Given the description of an element on the screen output the (x, y) to click on. 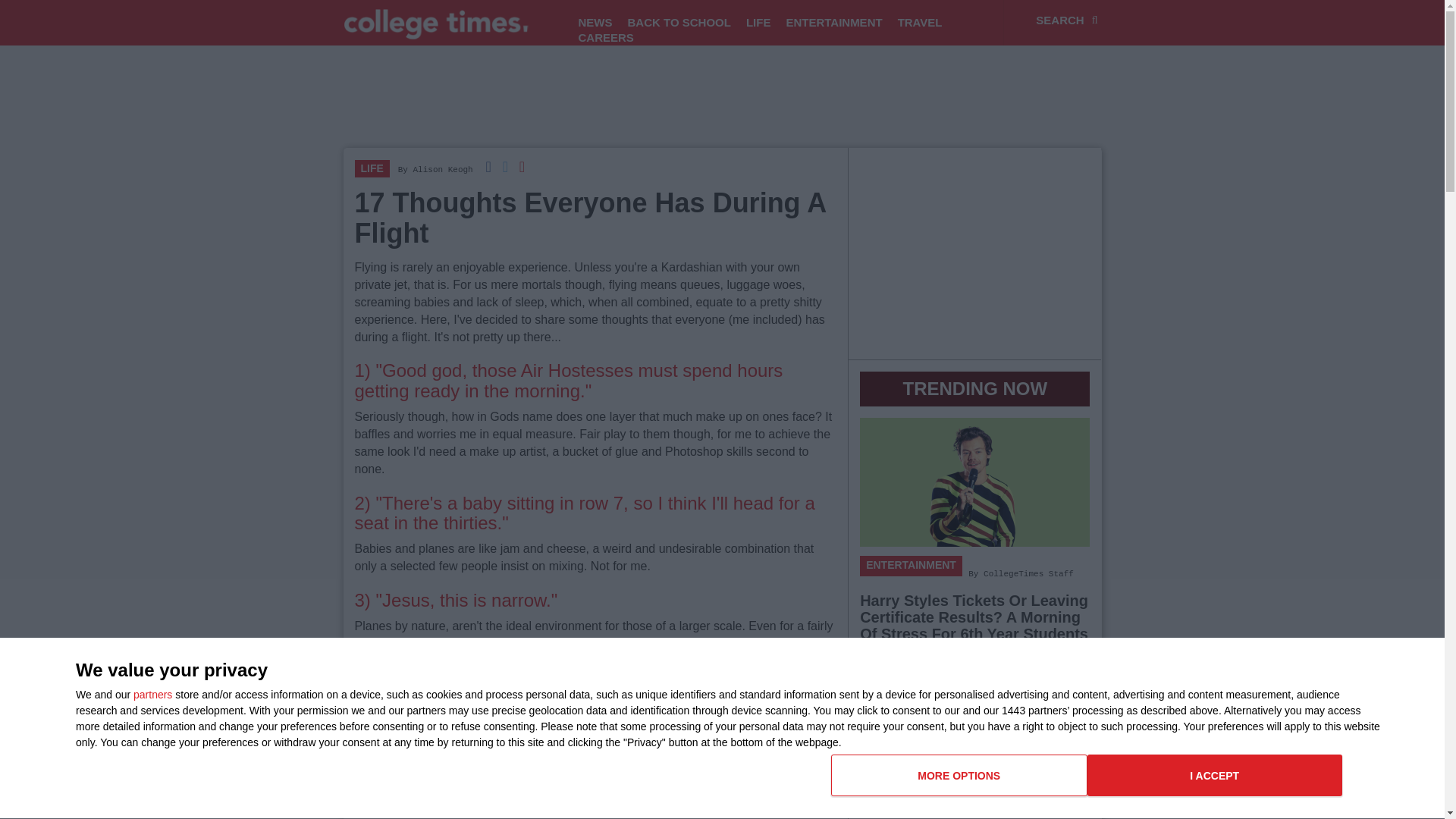
Alison Keogh (1086, 781)
I ACCEPT (441, 169)
CAREERS (1214, 775)
NEWS (605, 37)
partners (595, 22)
LIFE (152, 694)
LIFE (758, 22)
ENTERTAINMENT (372, 168)
BACK TO SCHOOL (833, 22)
MORE OPTIONS (679, 22)
TRAVEL (959, 775)
